Given the description of an element on the screen output the (x, y) to click on. 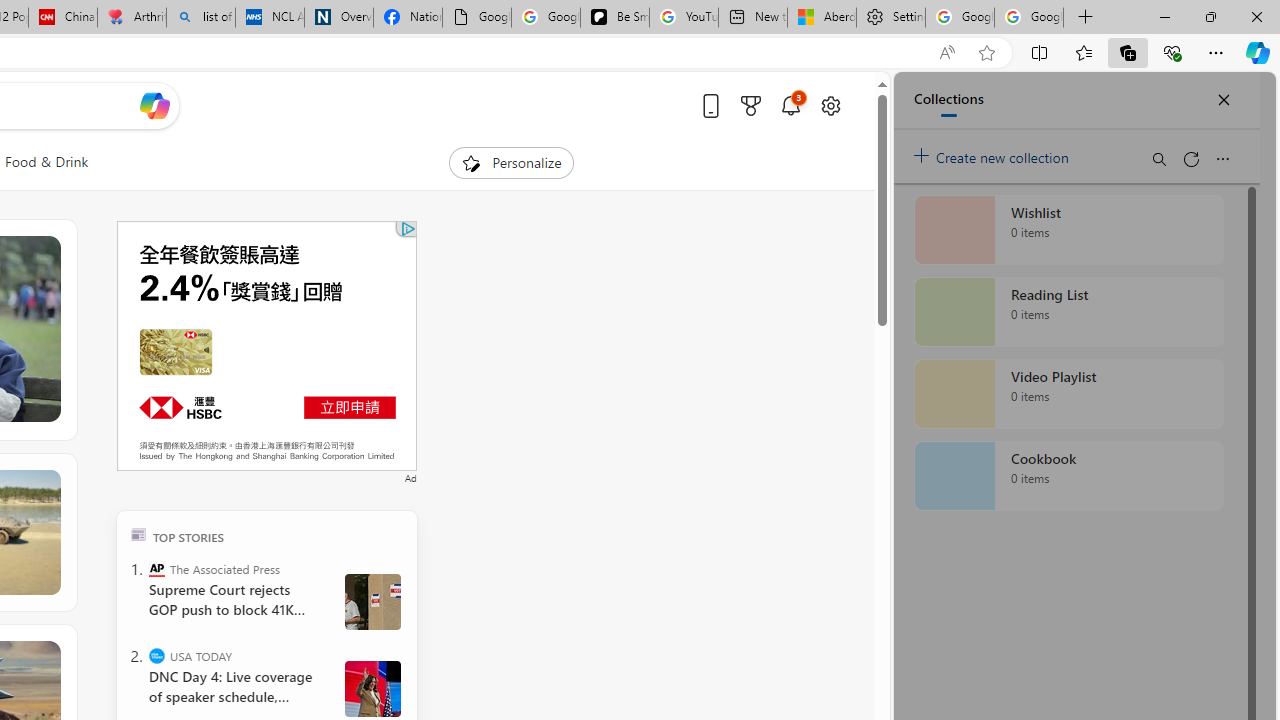
list of asthma inhalers uk - Search (200, 17)
Arthritis: Ask Health Professionals (132, 17)
Be Smart | creating Science videos | Patreon (614, 17)
Aberdeen, Hong Kong SAR hourly forecast | Microsoft Weather (822, 17)
